Given the description of an element on the screen output the (x, y) to click on. 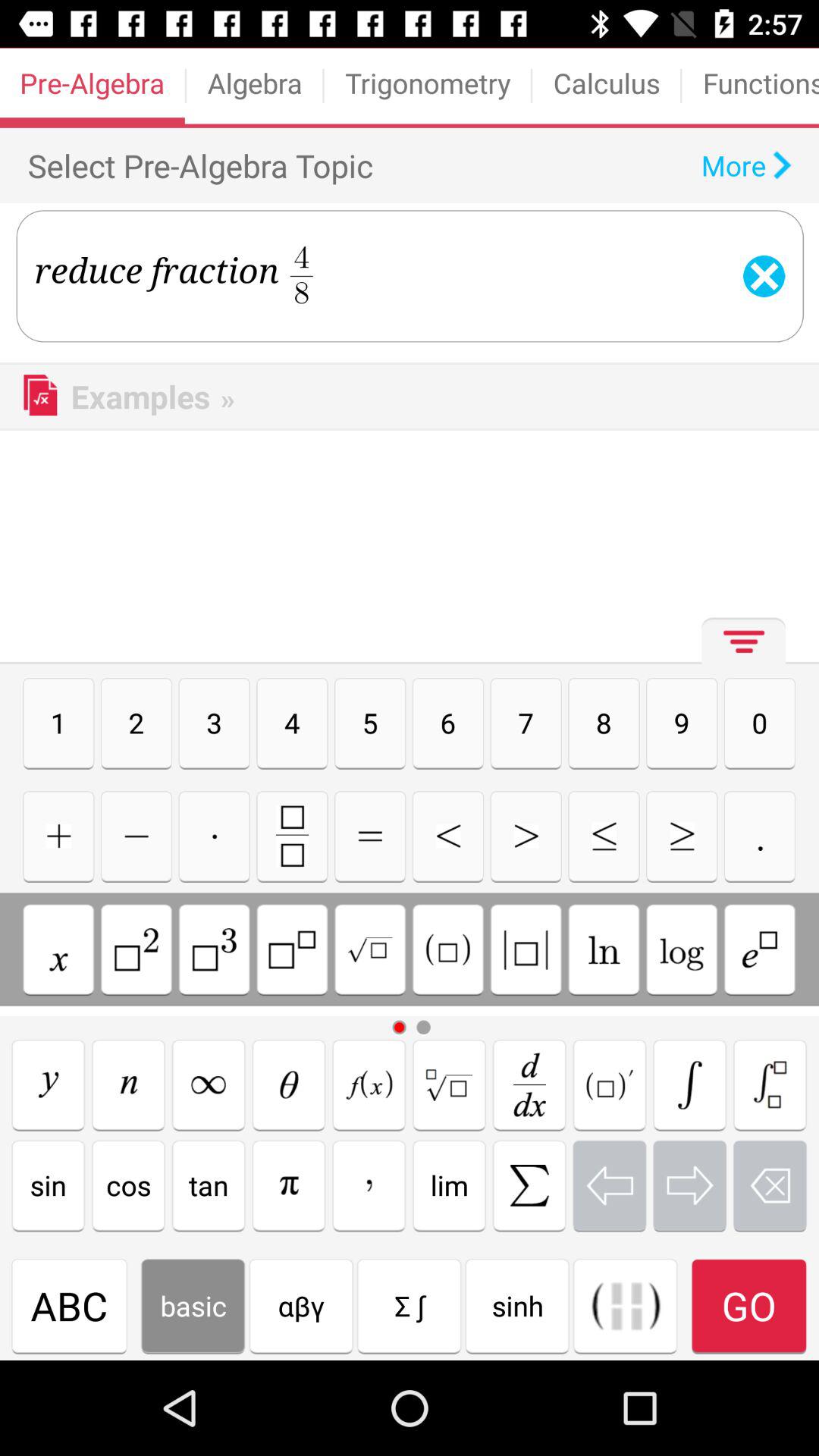
select symbol (526, 949)
